Given the description of an element on the screen output the (x, y) to click on. 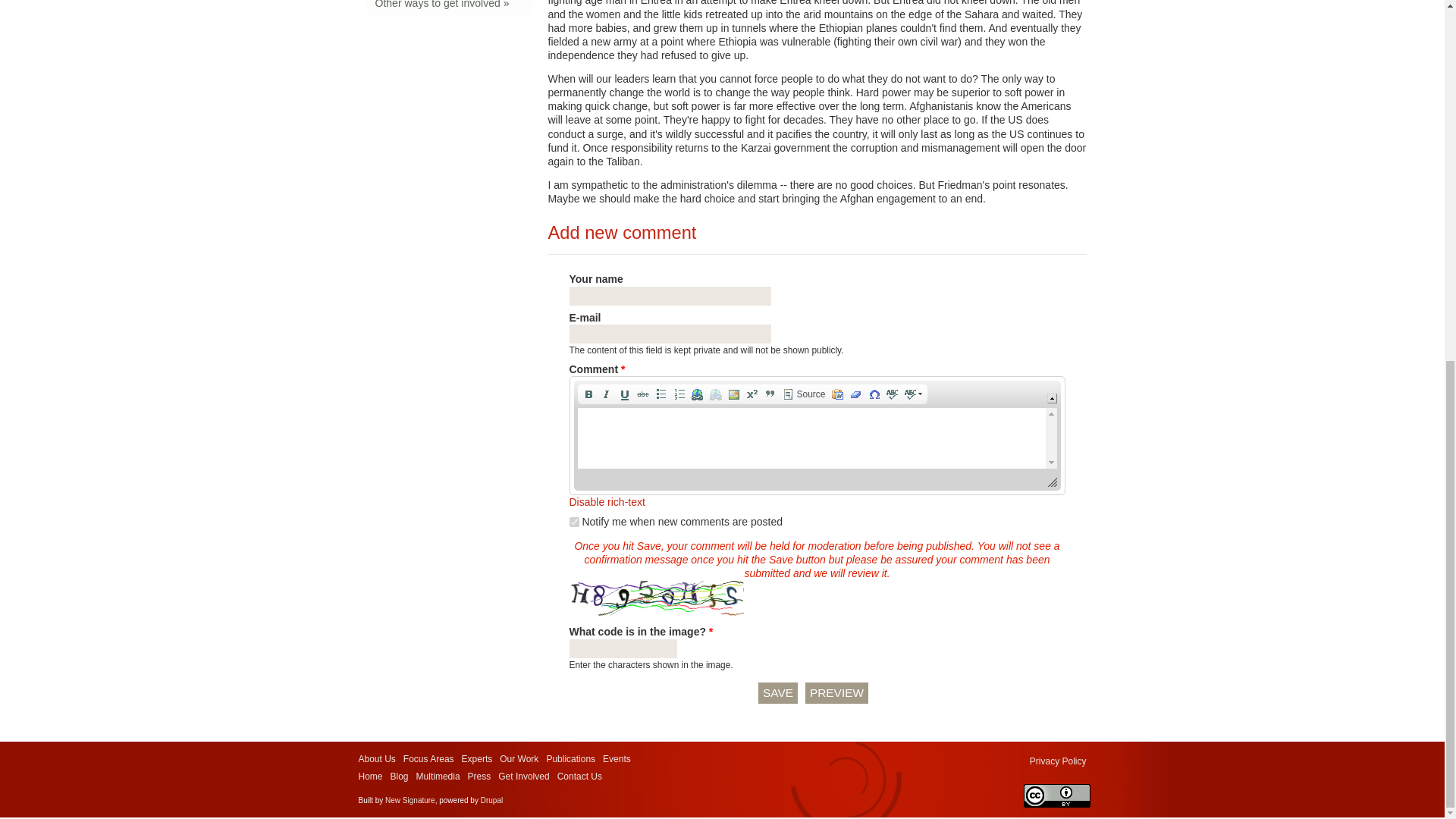
1 (573, 521)
This field is required. (622, 369)
Save (777, 692)
Preview (836, 692)
